Given the description of an element on the screen output the (x, y) to click on. 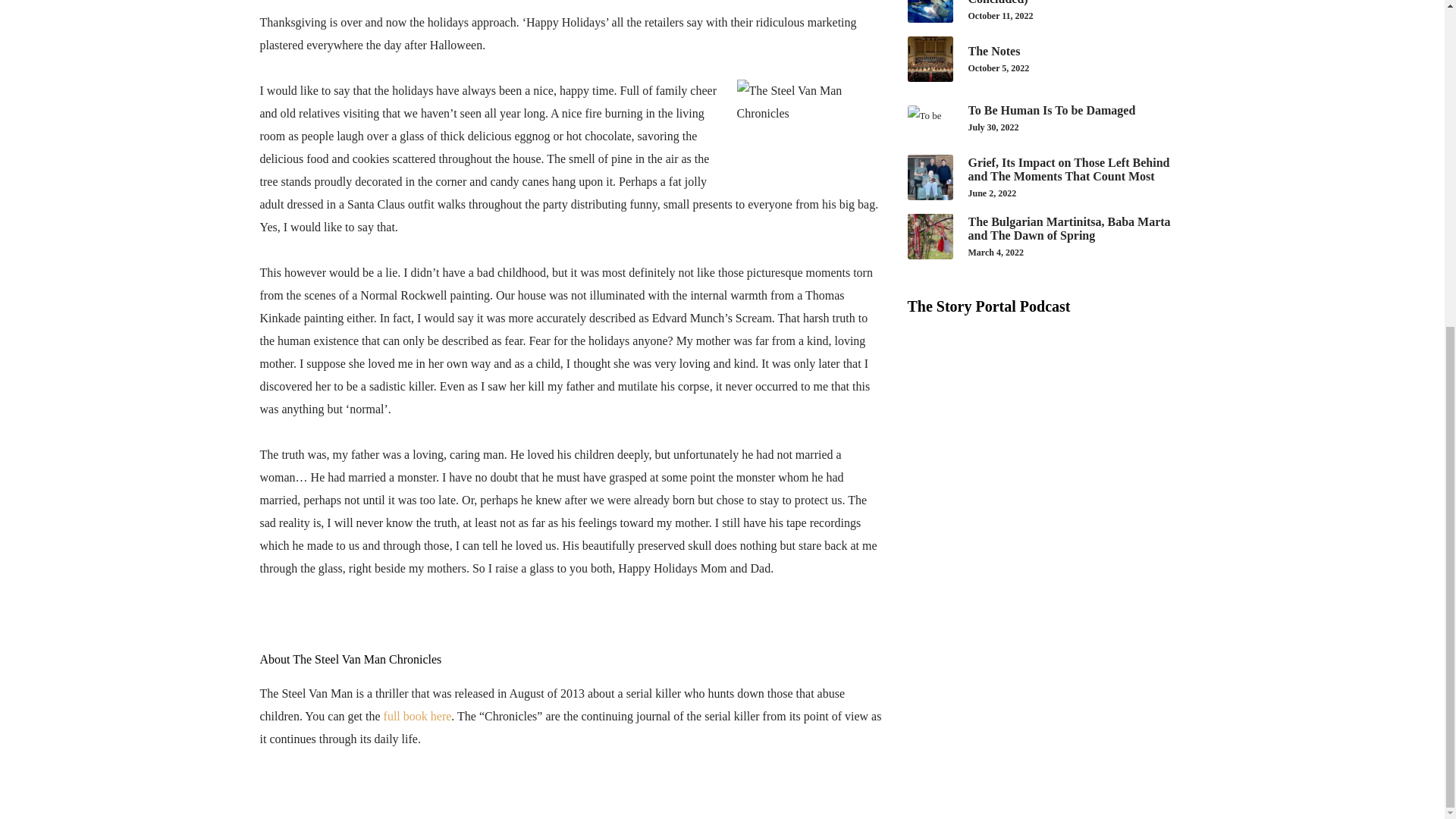
The Steel Van Man (417, 716)
full book here (1046, 58)
To Be Human Is To be Damaged (417, 716)
The Bulgarian Martinitsa, Baba Marta and The Dawn of Spring (1046, 117)
The Notes (1046, 117)
